Given the description of an element on the screen output the (x, y) to click on. 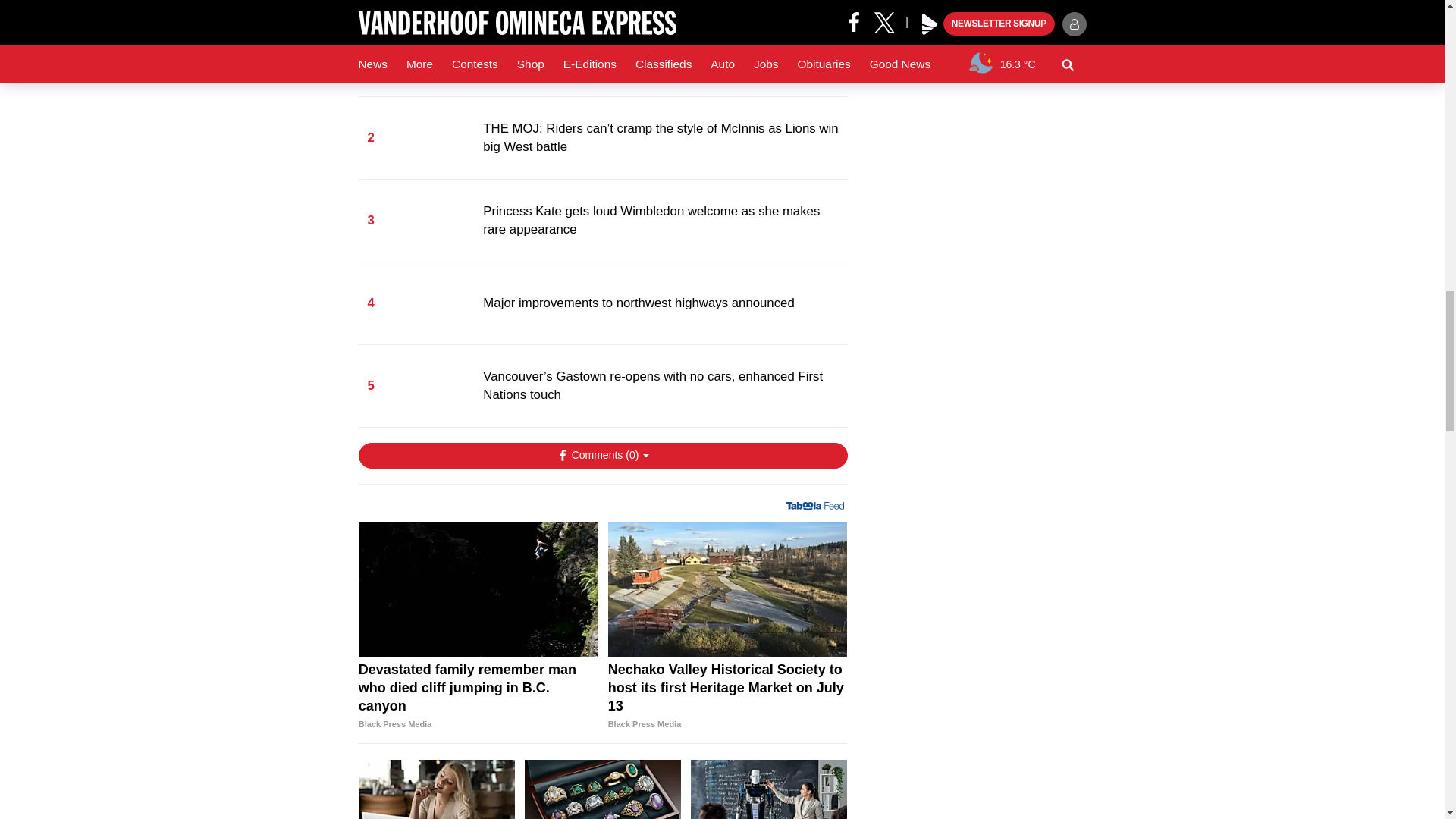
Show Comments (602, 455)
Work From Home Jobs In The USA May Pay More Than You Think (436, 789)
